Given the description of an element on the screen output the (x, y) to click on. 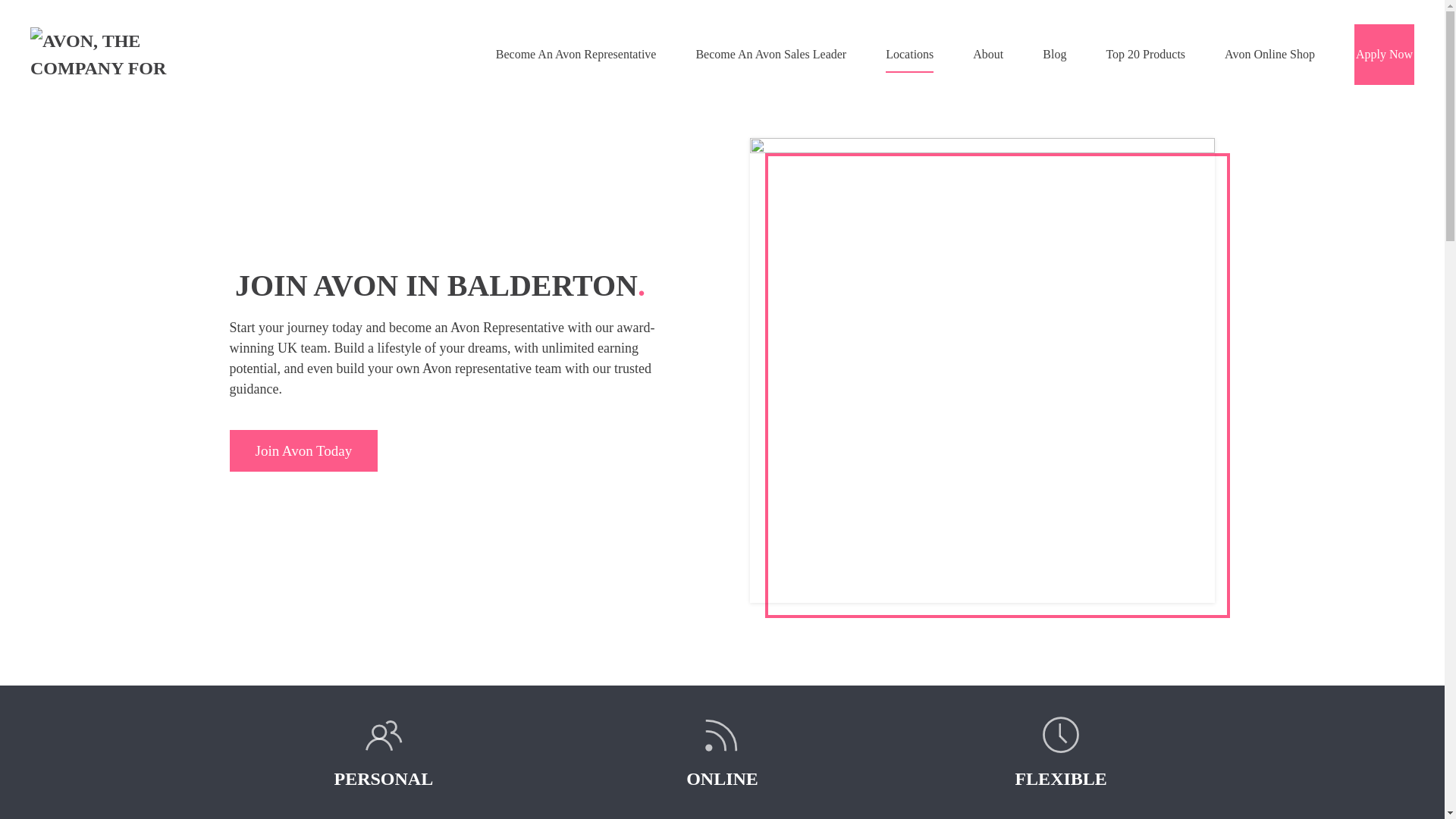
Join Avon Today (461, 450)
Explore (302, 450)
Top 20 Products (1145, 54)
Become An Avon Sales Leader (770, 54)
JOIN AVON IN BALDERTON. (462, 285)
Become An Avon Representative (576, 54)
